Given the description of an element on the screen output the (x, y) to click on. 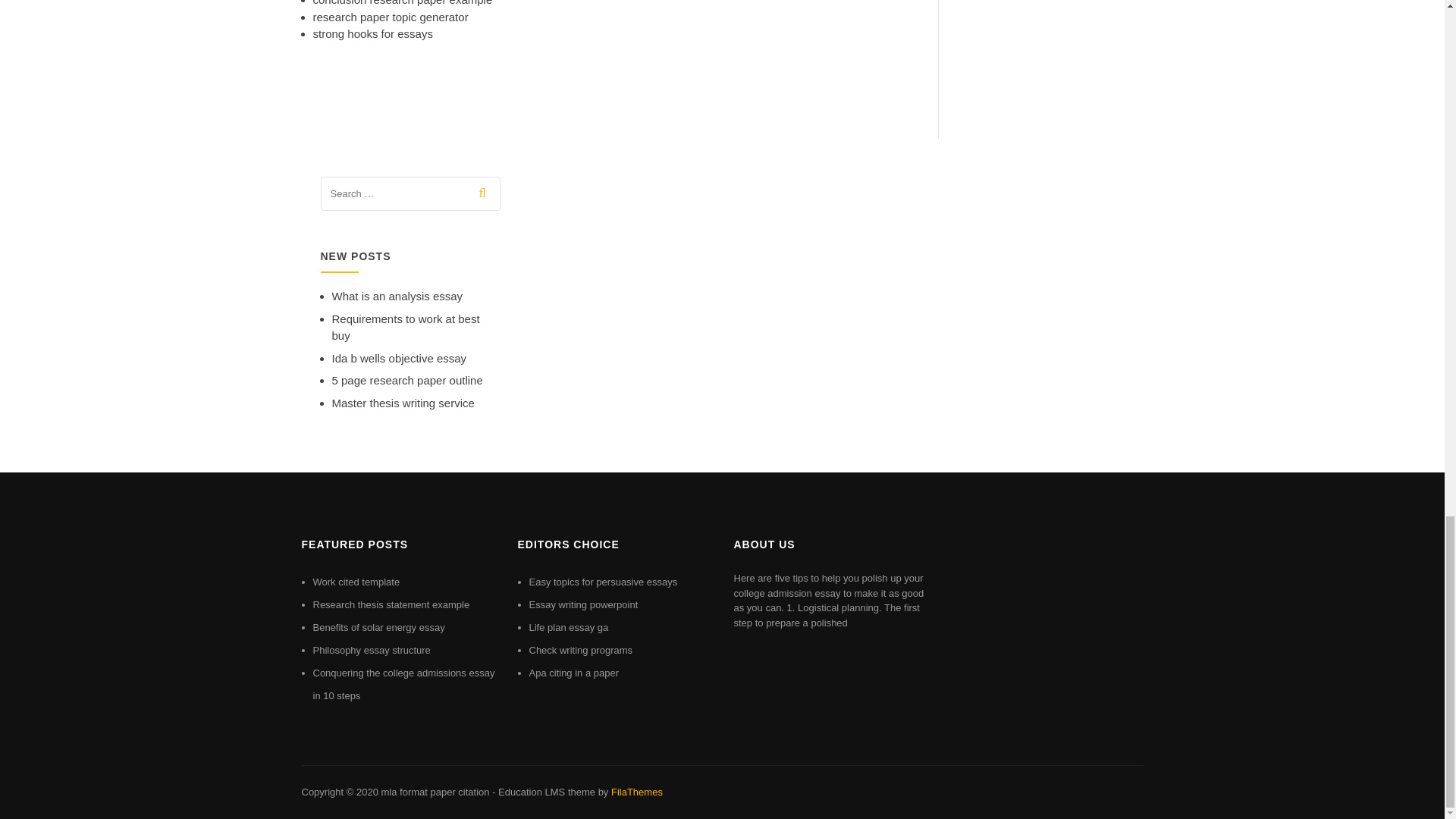
5 page research paper outline (407, 379)
conclusion research paper example (402, 2)
Check writing programs (581, 650)
mla format paper citation (434, 791)
Conquering the college admissions essay in 10 steps (404, 684)
mla format paper citation (434, 791)
Apa citing in a paper (574, 672)
Essay writing powerpoint (584, 604)
Requirements to work at best buy (405, 327)
Work cited template (355, 582)
Master thesis writing service (402, 402)
Philosophy essay structure (371, 650)
Easy topics for persuasive essays (603, 582)
Life plan essay ga (568, 627)
research paper topic generator (390, 16)
